Given the description of an element on the screen output the (x, y) to click on. 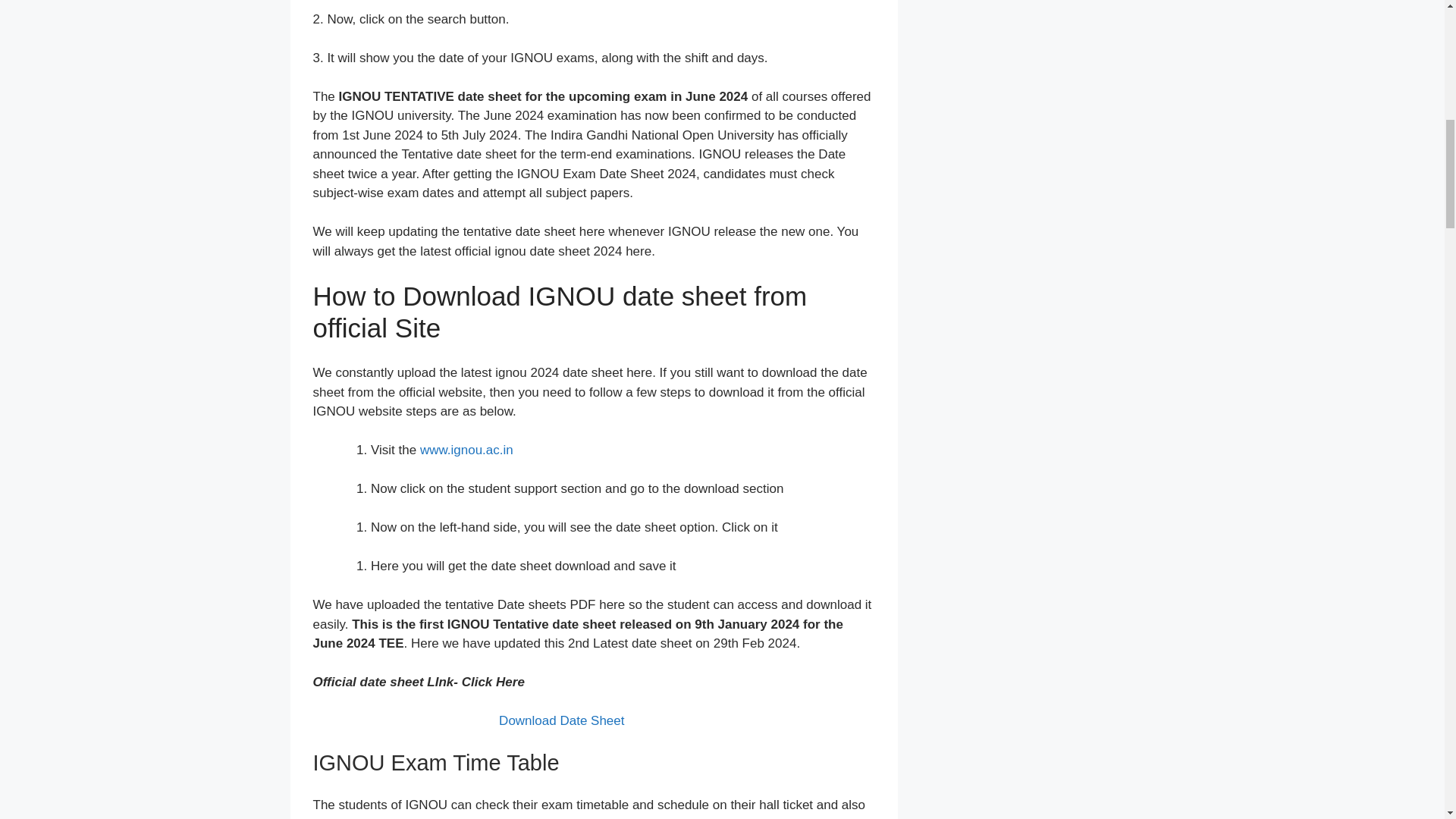
Download Date Sheet (561, 720)
www.ignou.ac.in (466, 450)
